Given the description of an element on the screen output the (x, y) to click on. 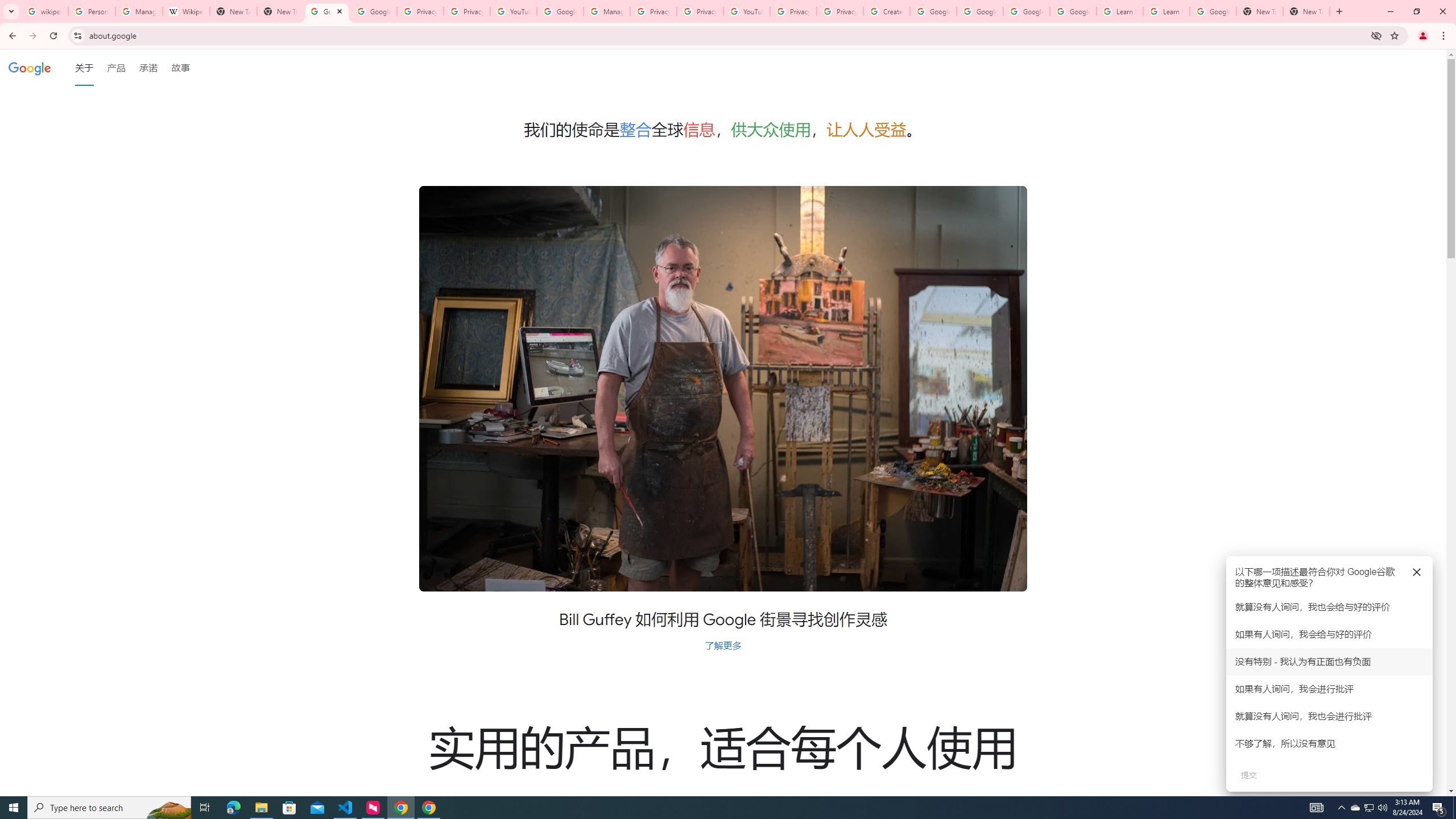
New Tab (1306, 11)
Personalization & Google Search results - Google Search Help (91, 11)
YouTube (745, 11)
Google Drive: Sign-in (373, 11)
Wikipedia:Edit requests - Wikipedia (186, 11)
